Given the description of an element on the screen output the (x, y) to click on. 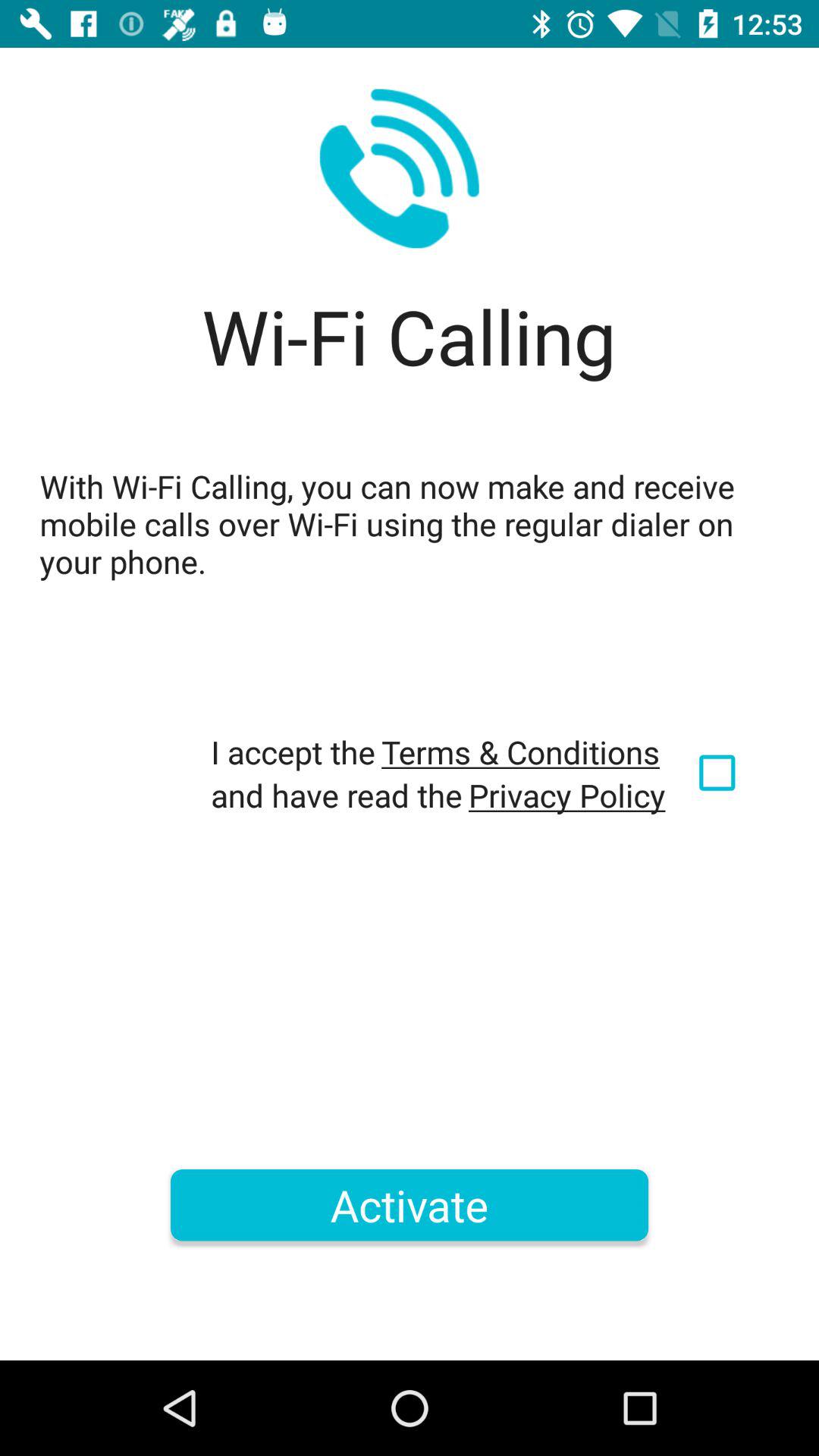
press icon to the right of privacy policy icon (720, 773)
